Given the description of an element on the screen output the (x, y) to click on. 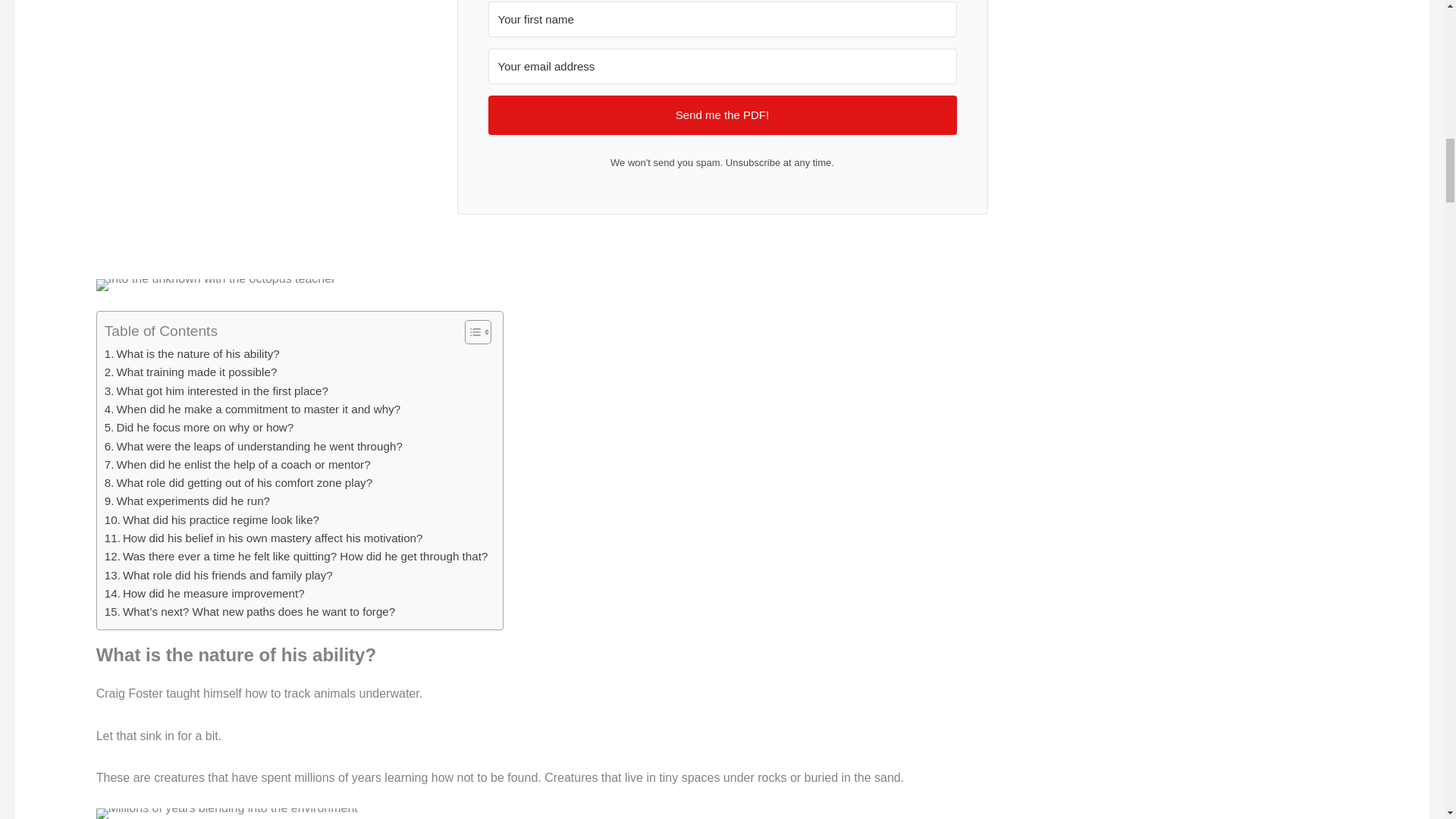
What role did getting out of his comfort zone play? (238, 483)
What experiments did he run? (186, 501)
How did his belief in his own mastery affect his motivation? (263, 538)
What got him interested in the first place? (216, 391)
What were the leaps of understanding he went through? (253, 446)
What did his practice regime look like? (211, 520)
What is the nature of his ability? (191, 353)
What training made it possible? (191, 372)
When did he make a commitment to master it and why? (252, 409)
